Given the description of an element on the screen output the (x, y) to click on. 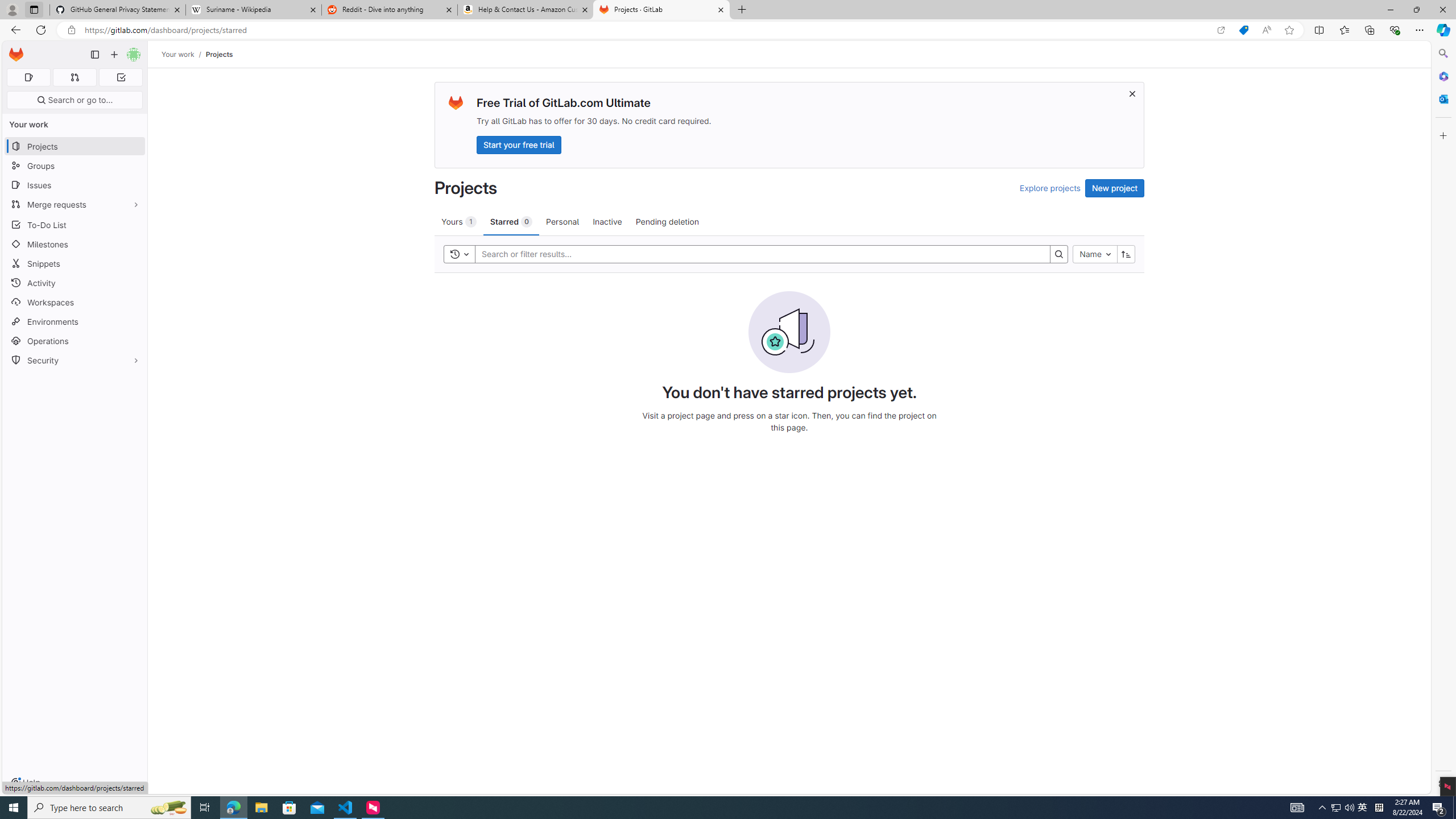
To-Do list 0 (120, 76)
Milestones (74, 244)
Milestones (74, 244)
Starred 0 (511, 221)
Name (1095, 253)
Open in app (1220, 29)
Toggle history (460, 253)
To-Do List (74, 224)
Groups (74, 165)
Pending deletion (667, 221)
Snippets (74, 262)
Homepage (16, 54)
Security (74, 359)
